Given the description of an element on the screen output the (x, y) to click on. 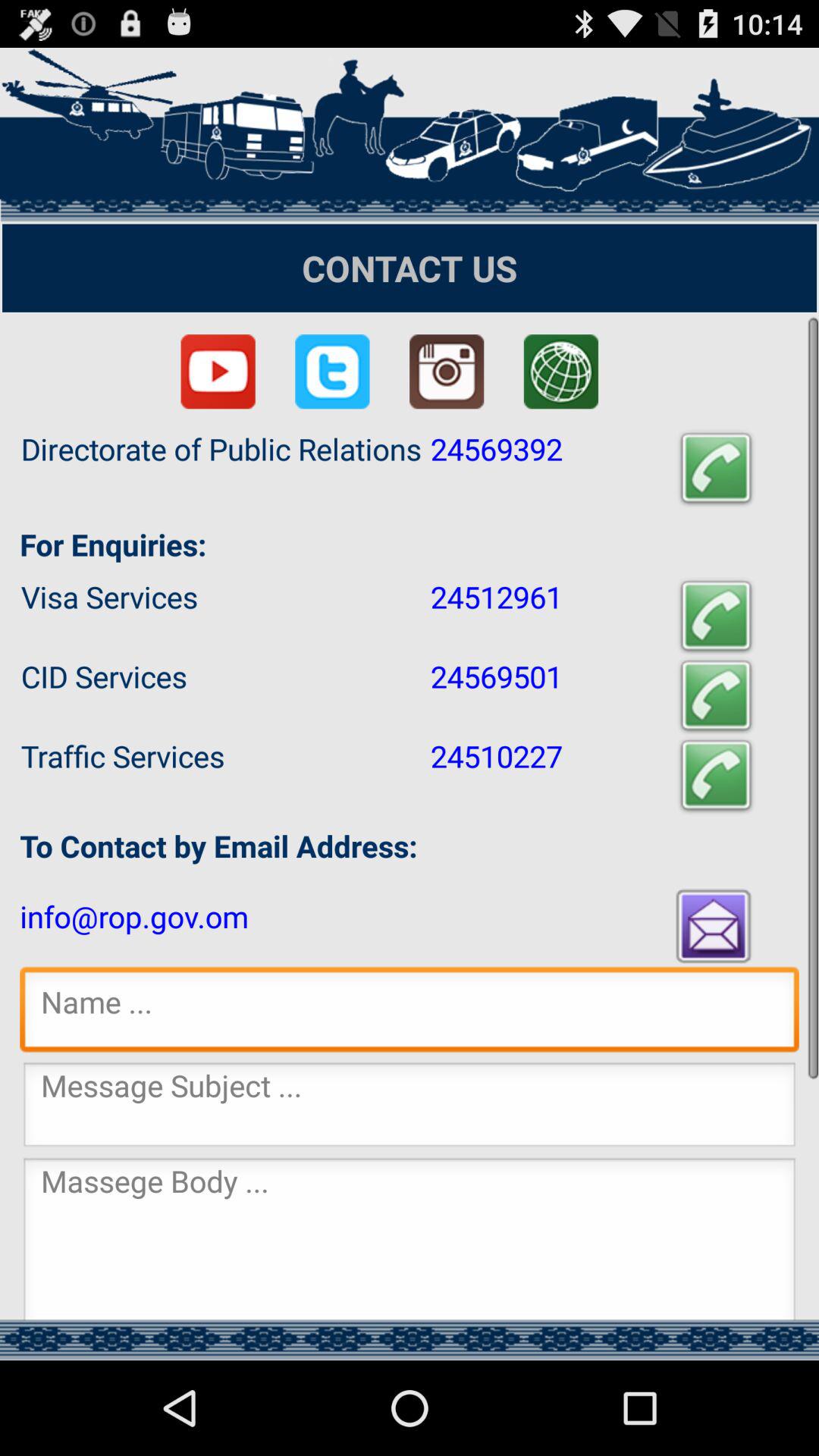
launch icon to the right of the 24569392 (716, 468)
